Given the description of an element on the screen output the (x, y) to click on. 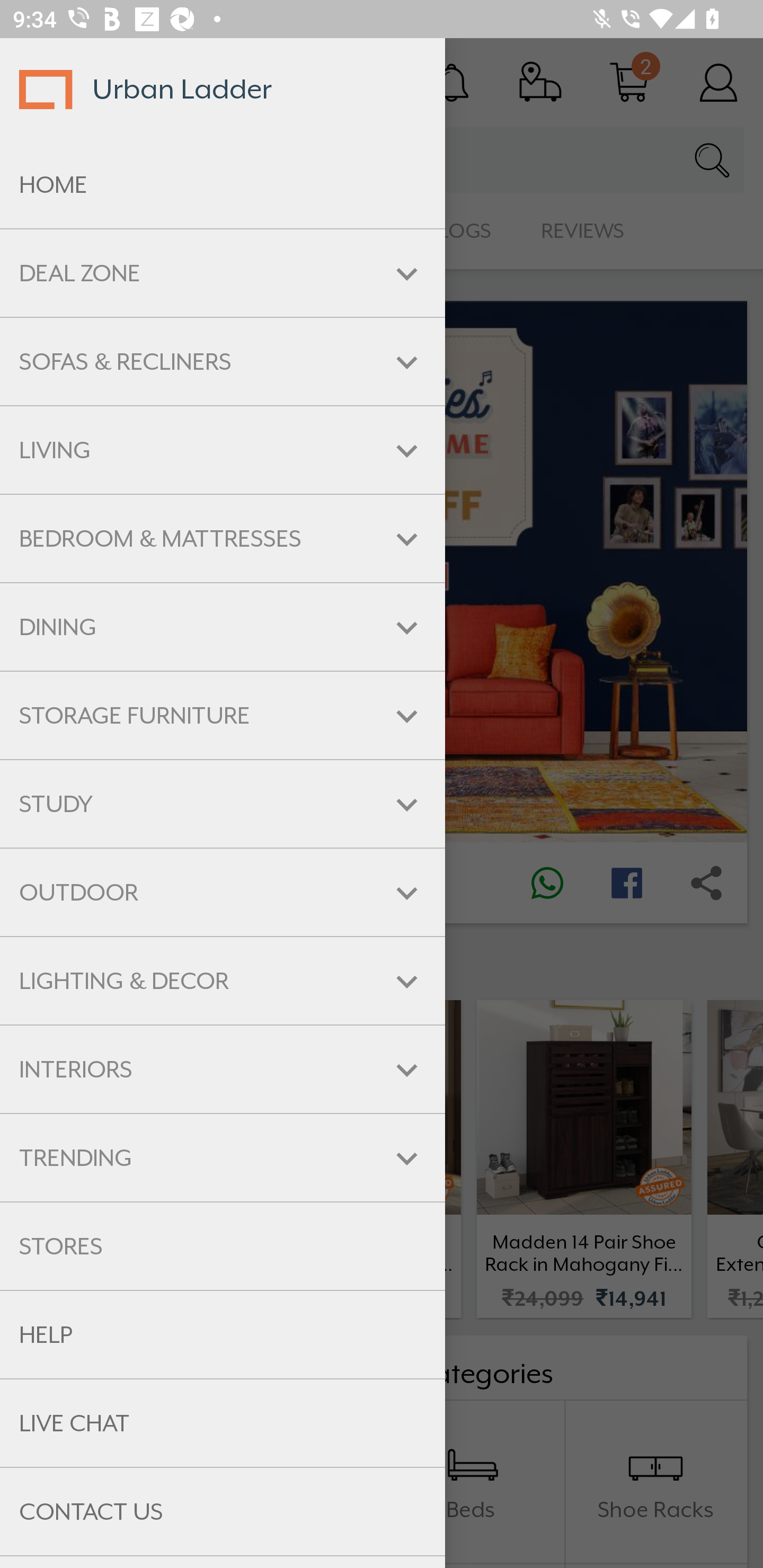
Open navigation drawer (44, 82)
Urban Ladder (222, 89)
HOME (222, 184)
DEAL ZONE  (222, 273)
SOFAS & RECLINERS  (222, 361)
LIVING  (222, 450)
BEDROOM & MATTRESSES  (222, 538)
DINING  (222, 627)
STORAGE FURNITURE  (222, 715)
STUDY  (222, 803)
OUTDOOR  (222, 892)
LIGHTING & DECOR  (222, 980)
INTERIORS  (222, 1069)
TRENDING  (222, 1157)
STORES (222, 1246)
HELP (222, 1334)
LIVE CHAT (222, 1422)
CONTACT US (222, 1512)
